Given the description of an element on the screen output the (x, y) to click on. 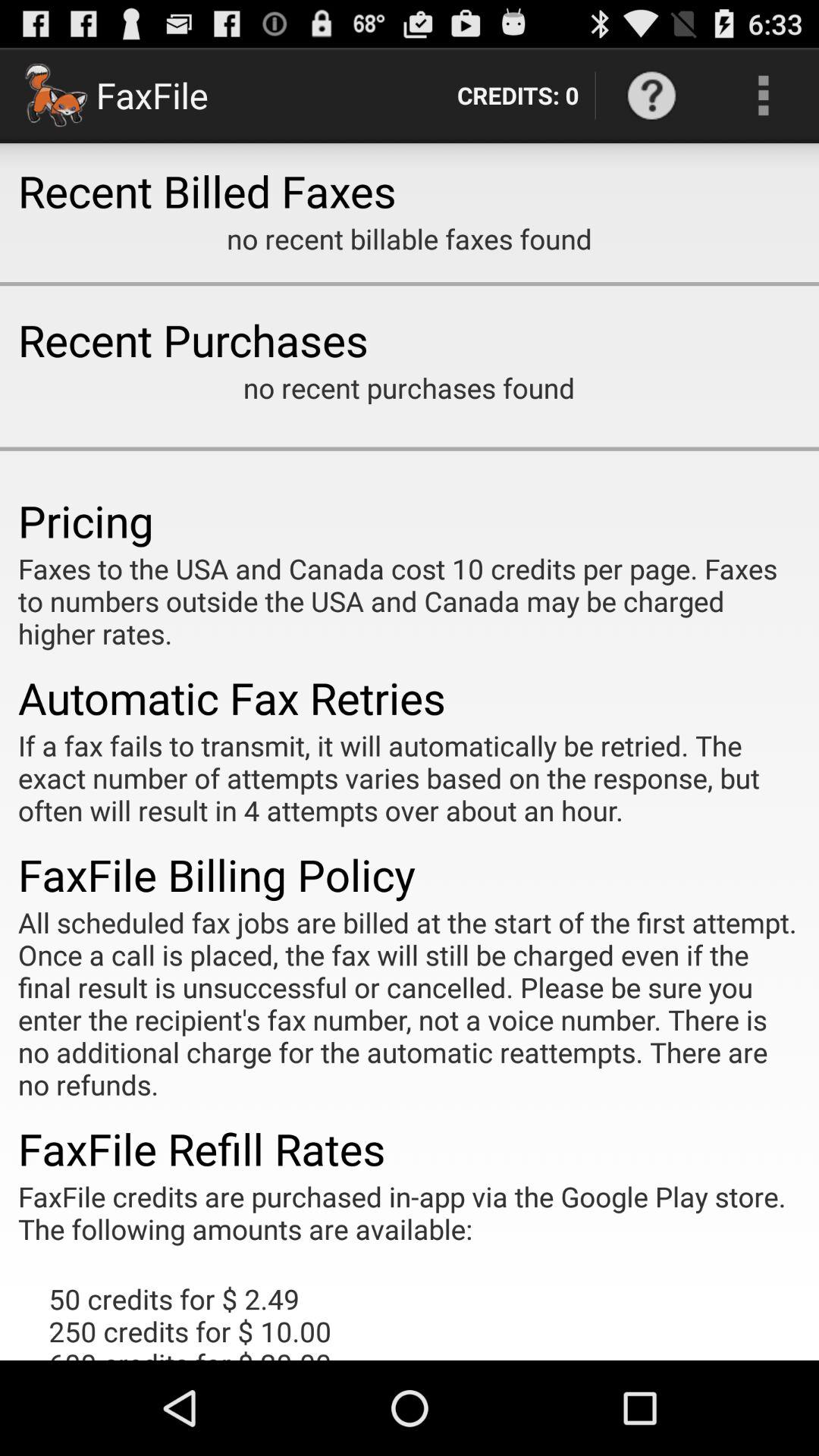
choose credits: 0 item (517, 95)
